Given the description of an element on the screen output the (x, y) to click on. 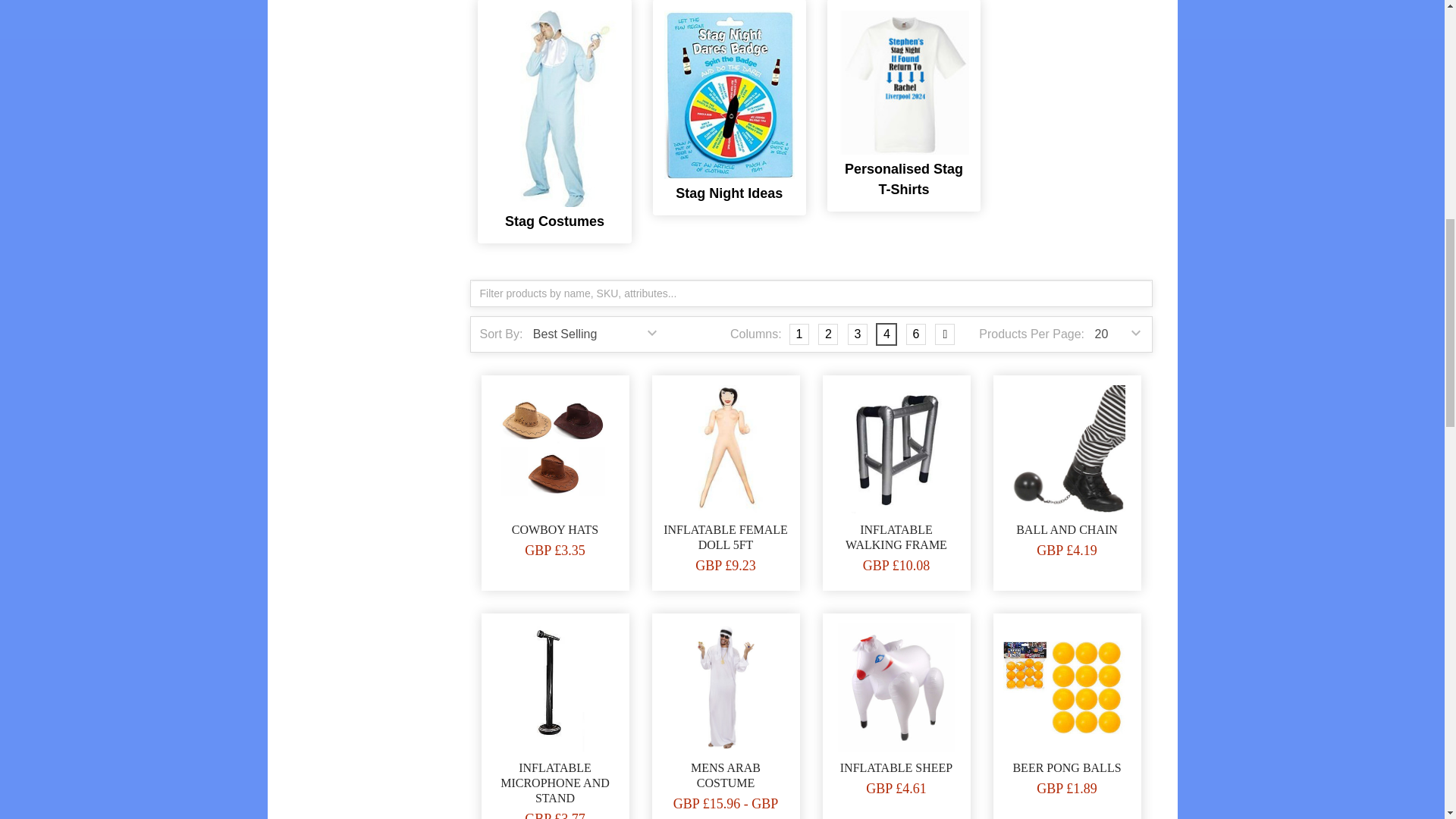
1 (799, 333)
Personalised Stag T-Shirts (903, 82)
Stag Night Ideas (728, 94)
2 (827, 333)
Stag Costumes (554, 108)
